Given the description of an element on the screen output the (x, y) to click on. 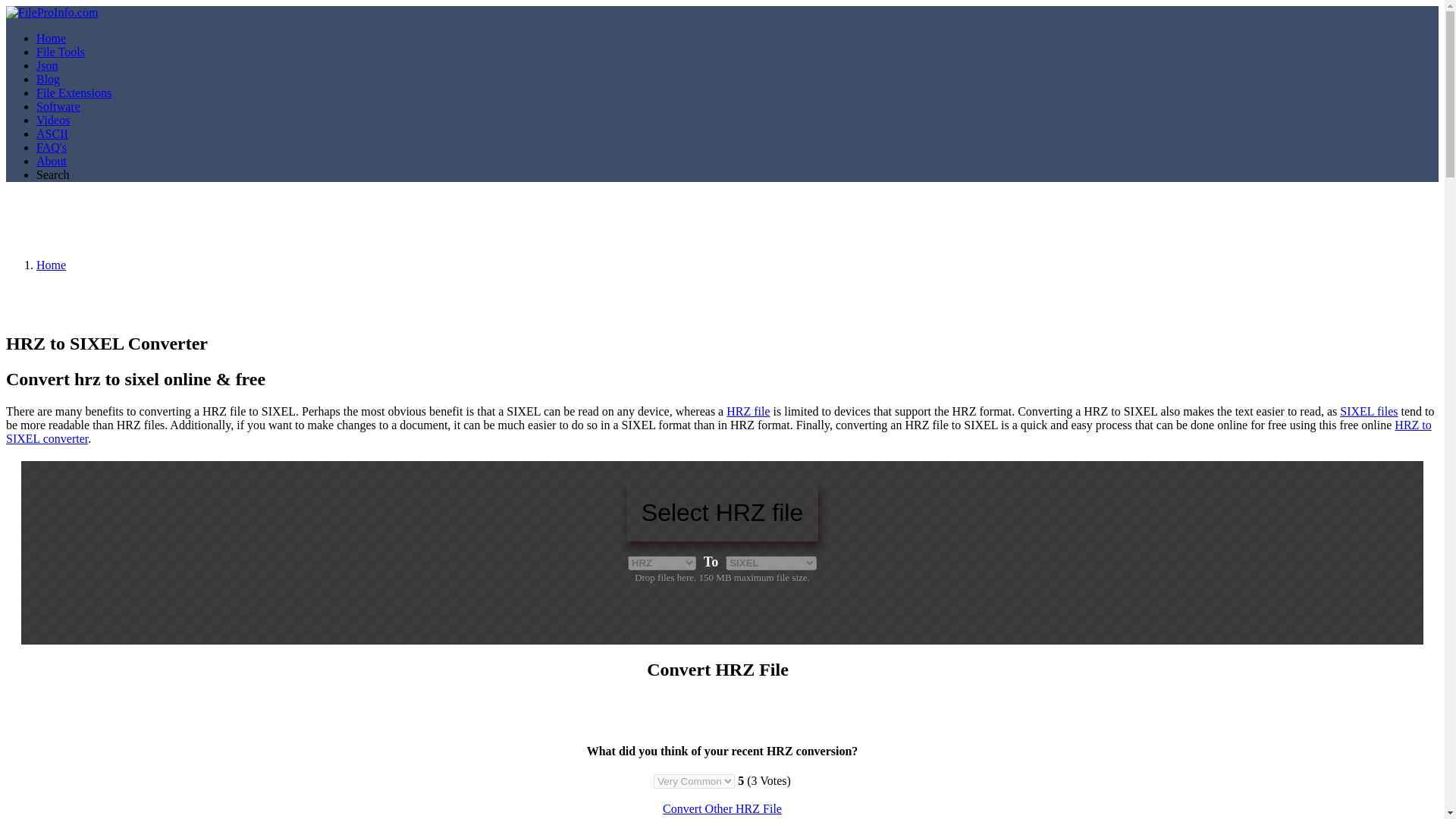
FAQ's (51, 146)
Json (47, 65)
Secure online document tools (60, 51)
Blog (47, 78)
FAQ's (51, 146)
Json (47, 65)
ASCII (52, 133)
Search (52, 174)
Select HRZ file (722, 512)
About FileProInfo (51, 160)
